Given the description of an element on the screen output the (x, y) to click on. 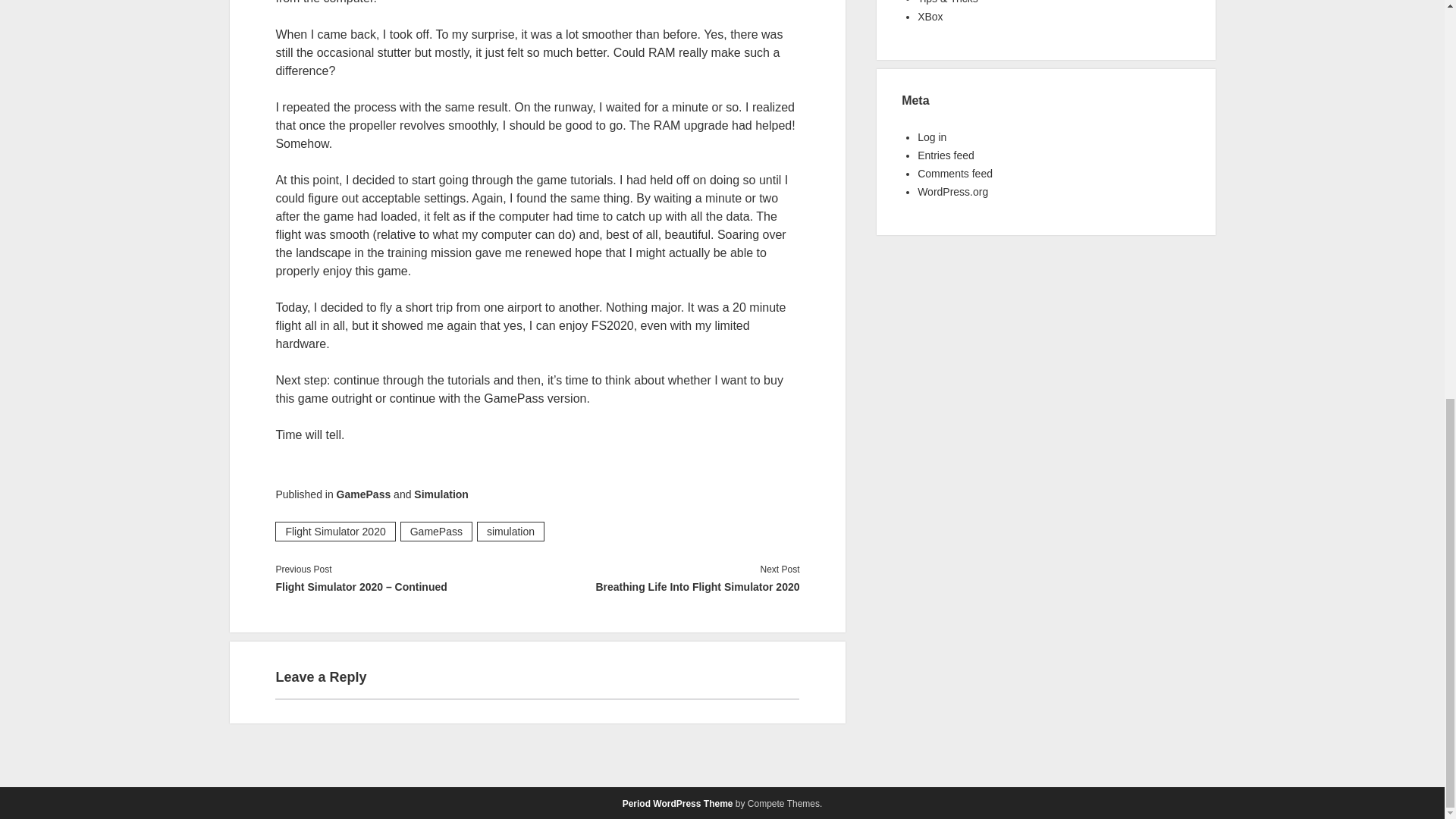
View all posts in Simulation (440, 494)
GamePass (435, 531)
Log in (931, 137)
Flight Simulator 2020 (334, 531)
simulation (510, 531)
Entries feed (945, 155)
View all posts tagged Flight Simulator 2020 (334, 531)
Breathing Life Into Flight Simulator 2020 (668, 587)
View all posts in GamePass (363, 494)
WordPress.org (952, 191)
GamePass (363, 494)
Comments feed (954, 173)
View all posts tagged simulation (510, 531)
Simulation (440, 494)
